Given the description of an element on the screen output the (x, y) to click on. 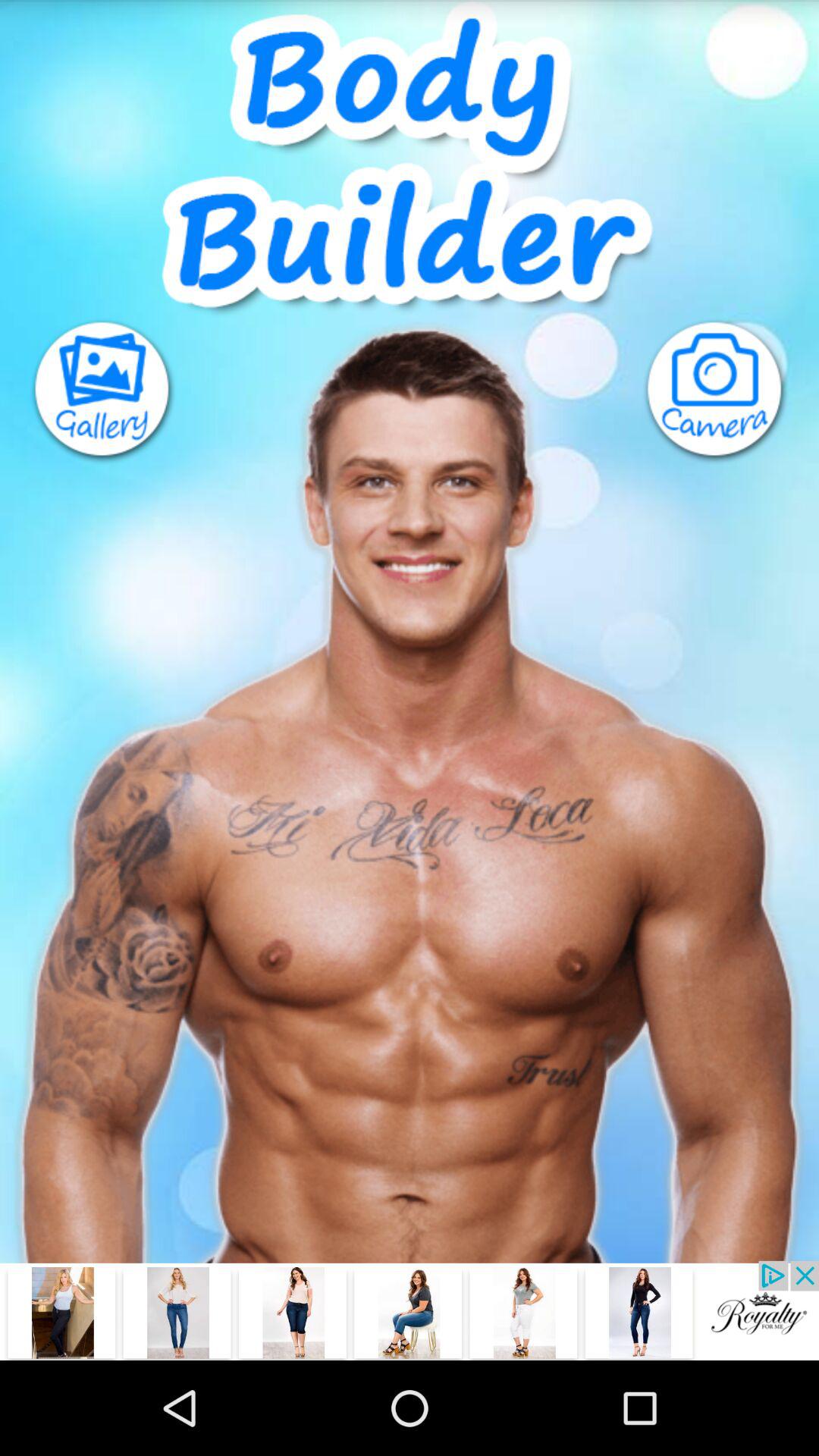
click to enter gallery (88, 391)
